Given the description of an element on the screen output the (x, y) to click on. 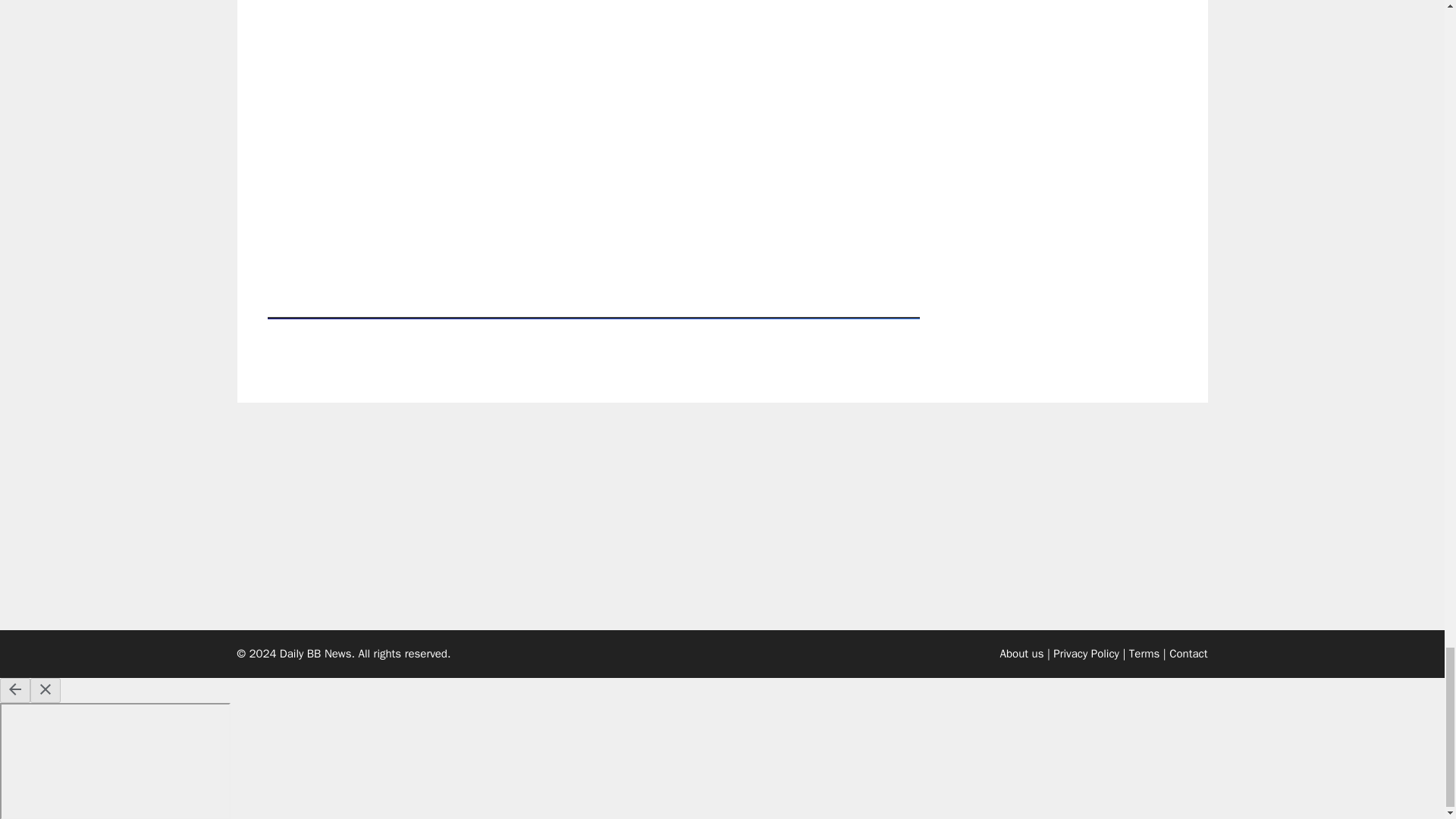
Privacy Policy (1085, 653)
About us (1021, 653)
Contact (1188, 653)
Terms (1143, 653)
